Given the description of an element on the screen output the (x, y) to click on. 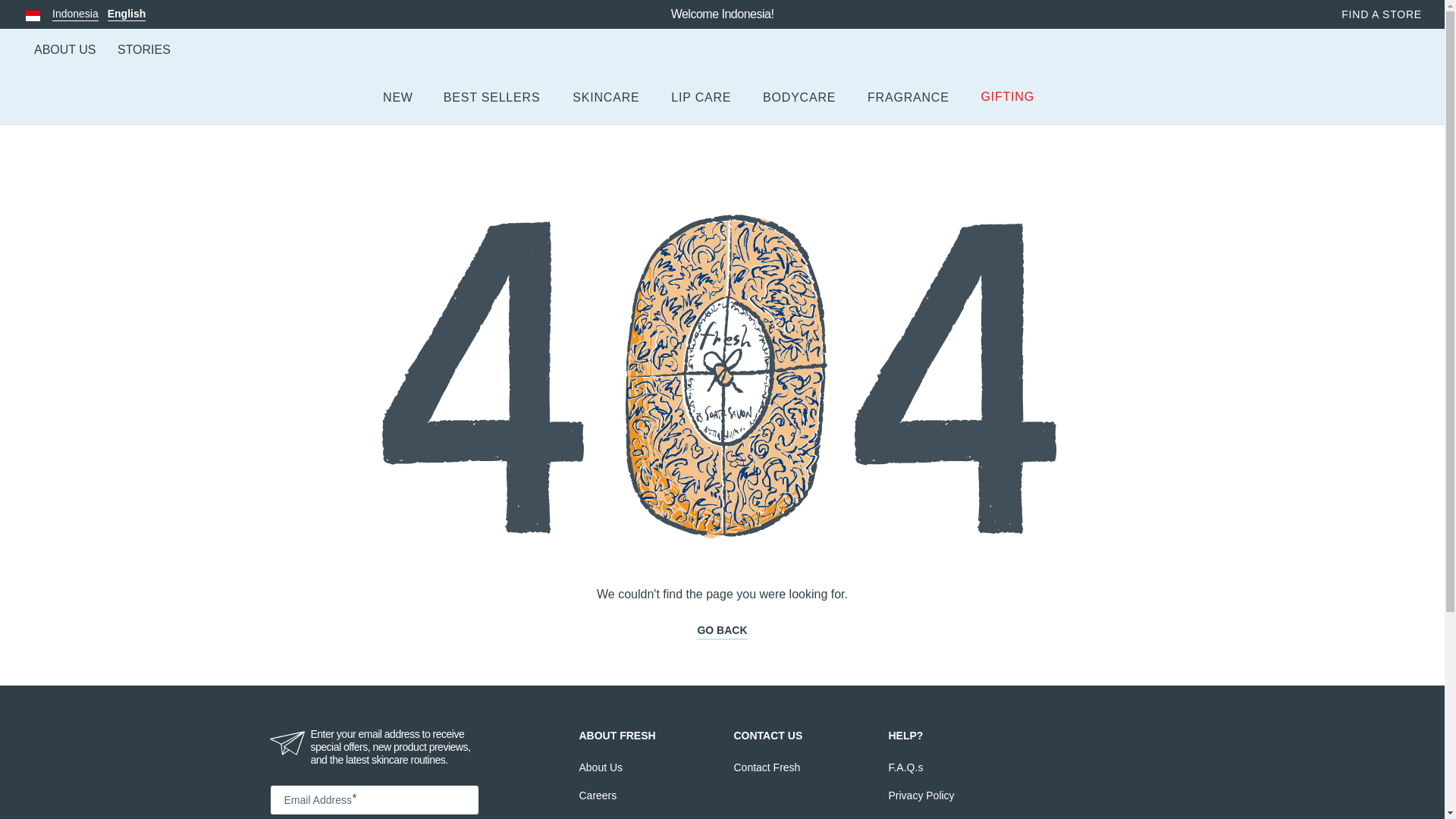
STORIES (143, 49)
BEST SELLERS (88, 14)
404 Not Found (493, 97)
SKINCARE (64, 49)
Fresh - Natural beauty cosmetic Home (606, 97)
FIND A STORE (722, 60)
